Given the description of an element on the screen output the (x, y) to click on. 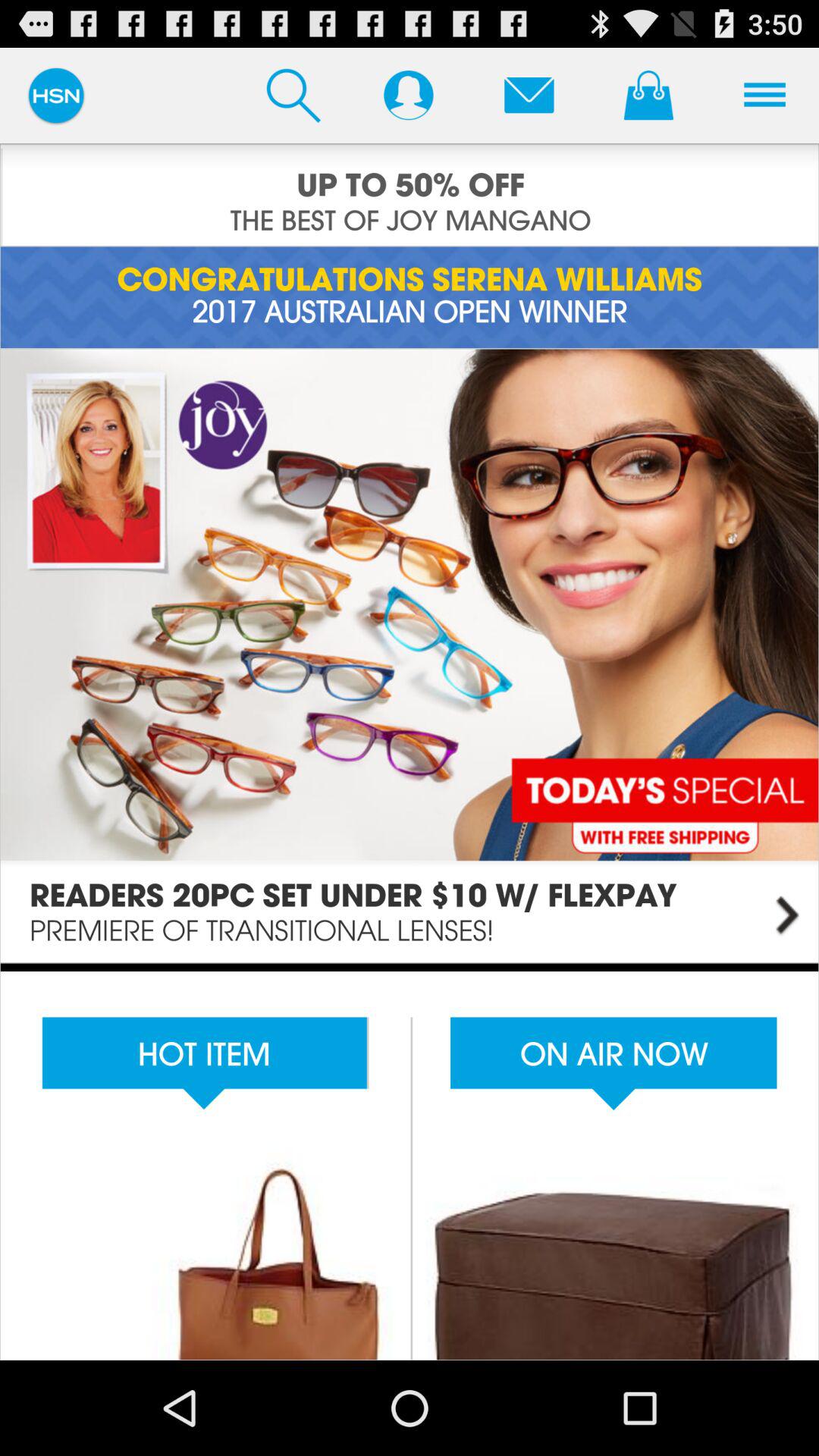
send an email (529, 95)
